Given the description of an element on the screen output the (x, y) to click on. 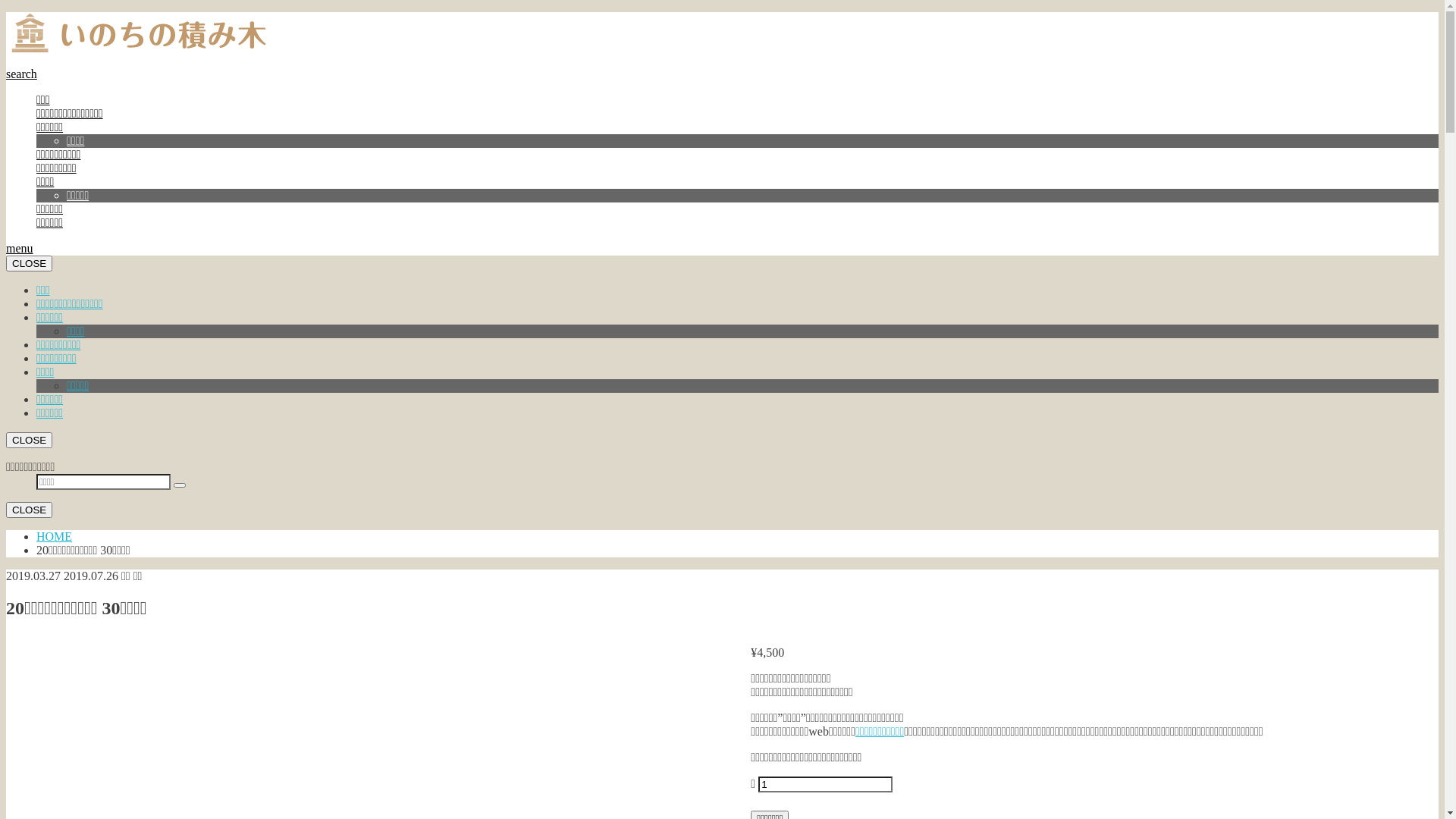
menu Element type: text (19, 247)
CLOSE Element type: text (29, 509)
CLOSE Element type: text (29, 440)
search Element type: text (21, 73)
HOME Element type: text (54, 536)
CLOSE Element type: text (29, 263)
